Given the description of an element on the screen output the (x, y) to click on. 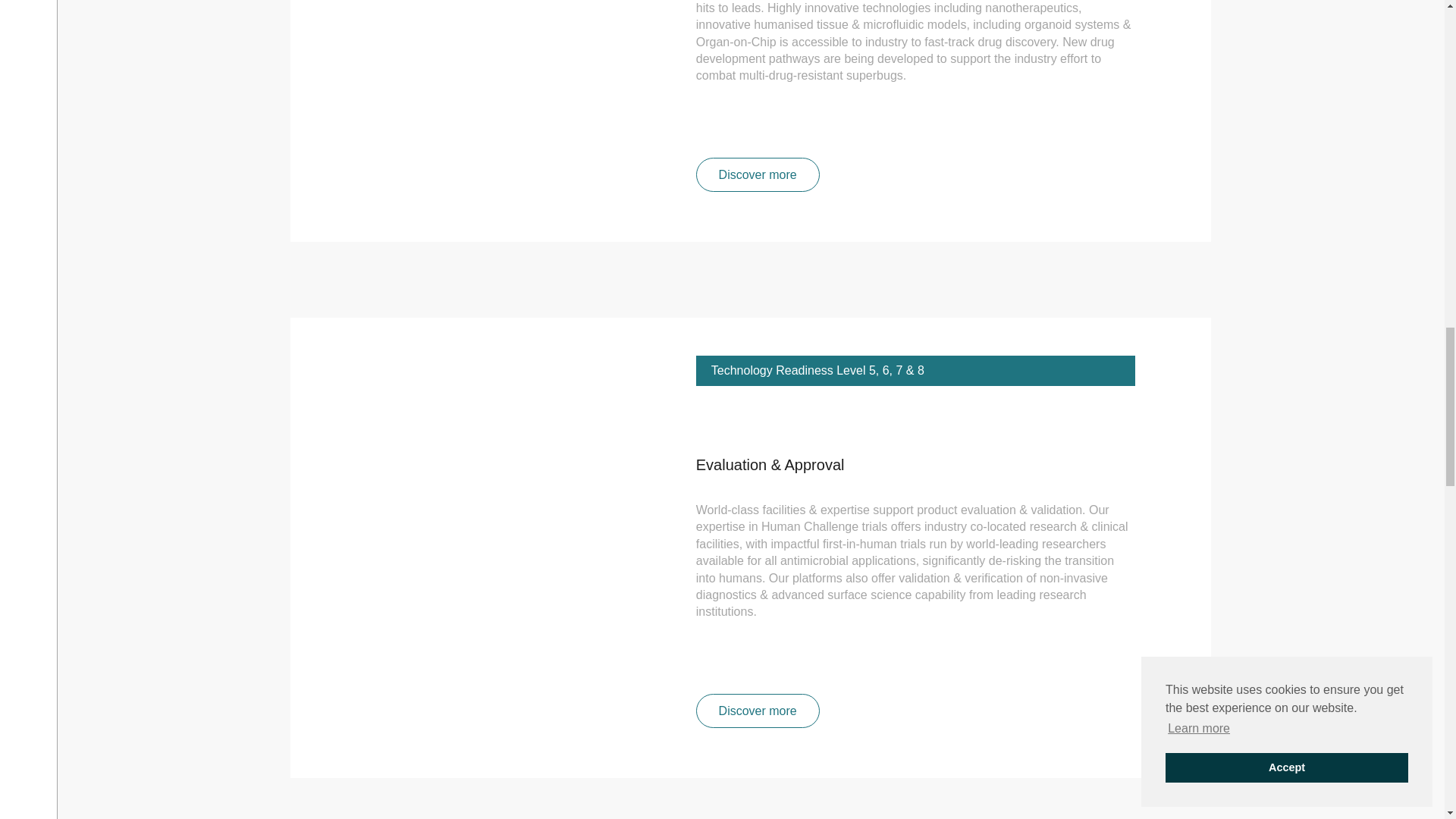
Discover more (757, 174)
